Given the description of an element on the screen output the (x, y) to click on. 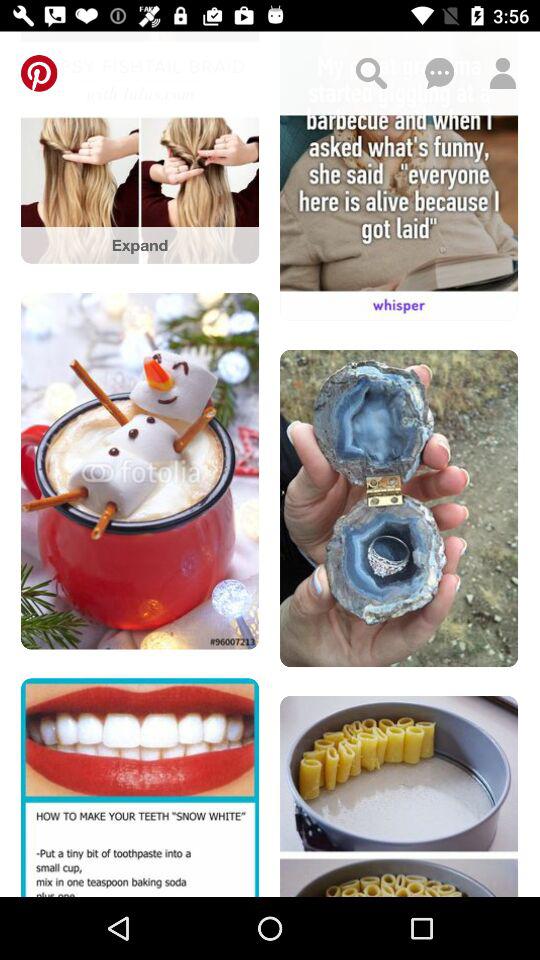
loads pinterest (39, 73)
